Given the description of an element on the screen output the (x, y) to click on. 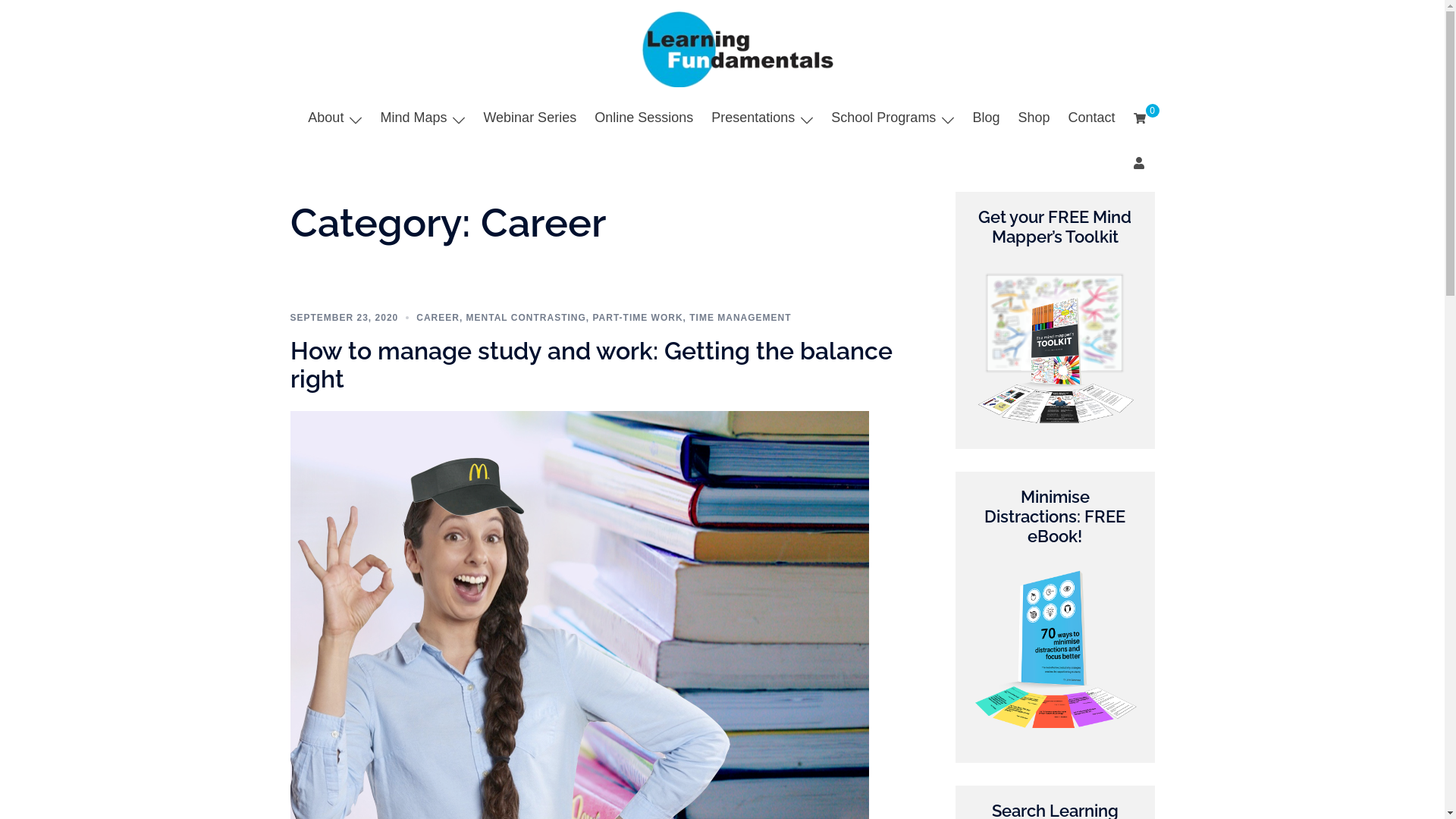
Search Element type: text (51, 18)
Presentations Element type: text (752, 117)
Shop Element type: text (1033, 117)
Contact Element type: text (1090, 117)
Webinar Series Element type: text (529, 117)
How to manage study and work: Getting the balance right Element type: text (590, 364)
Online Sessions Element type: text (643, 117)
0 Element type: text (1138, 117)
TIME MANAGEMENT Element type: text (739, 317)
Mind Maps Element type: text (412, 117)
School Programs Element type: text (883, 117)
About Element type: text (325, 117)
MENTAL CONTRASTING Element type: text (526, 317)
Learning Fundamentals Element type: hover (722, 47)
Login/Register Element type: hover (1138, 162)
SEPTEMBER 23, 2020 Element type: text (343, 317)
PART-TIME WORK Element type: text (637, 317)
CAREER Element type: text (437, 317)
Blog Element type: text (985, 117)
